Given the description of an element on the screen output the (x, y) to click on. 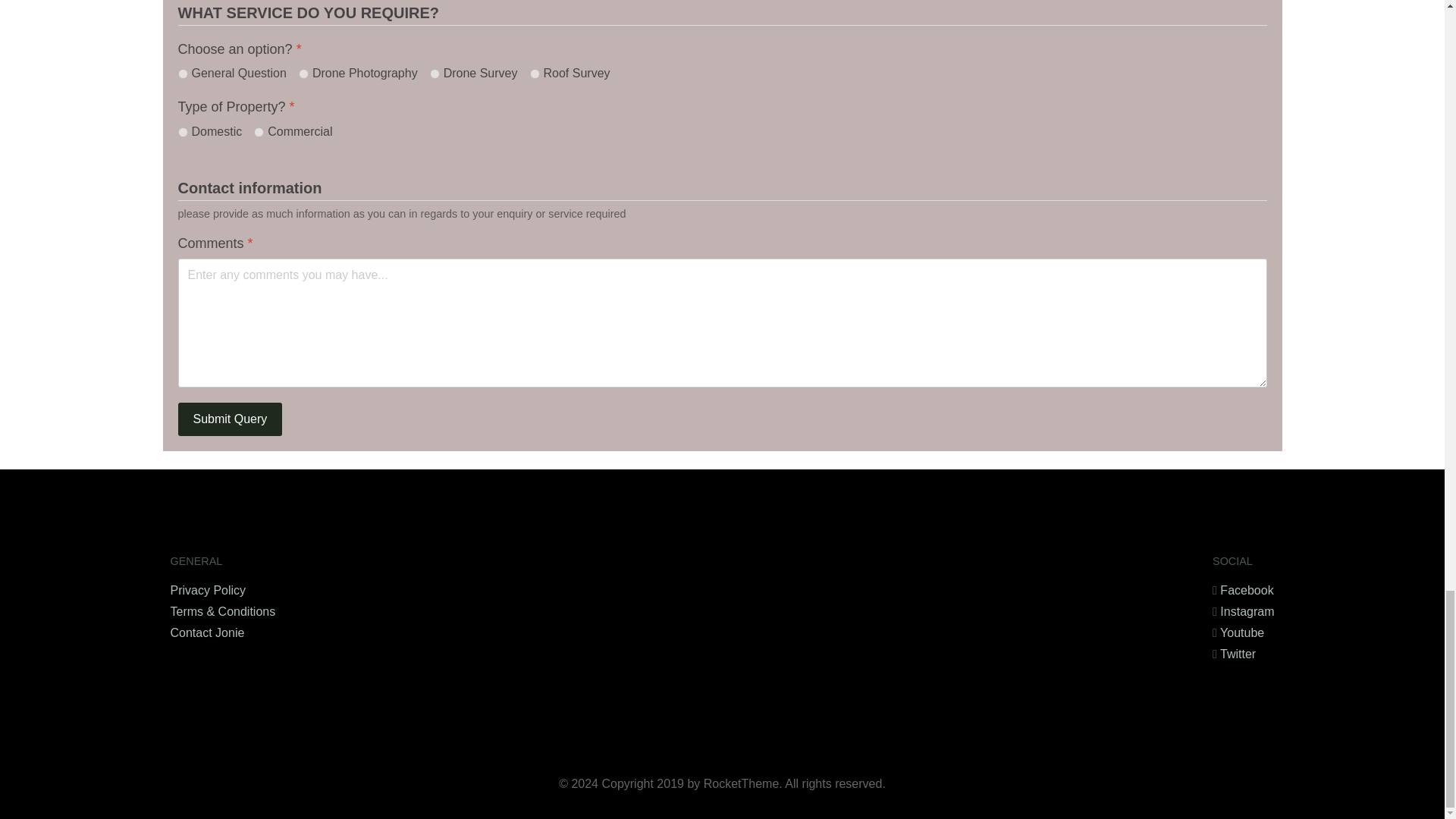
General Question (182, 73)
Facebook (1246, 590)
Twitter (1237, 653)
Domestic (182, 132)
Youtube (1241, 632)
Drone Photography (303, 73)
Drone Survey (434, 73)
Roof Survey (533, 73)
Privacy Policy (208, 590)
Contact Jonie (207, 632)
